Given the description of an element on the screen output the (x, y) to click on. 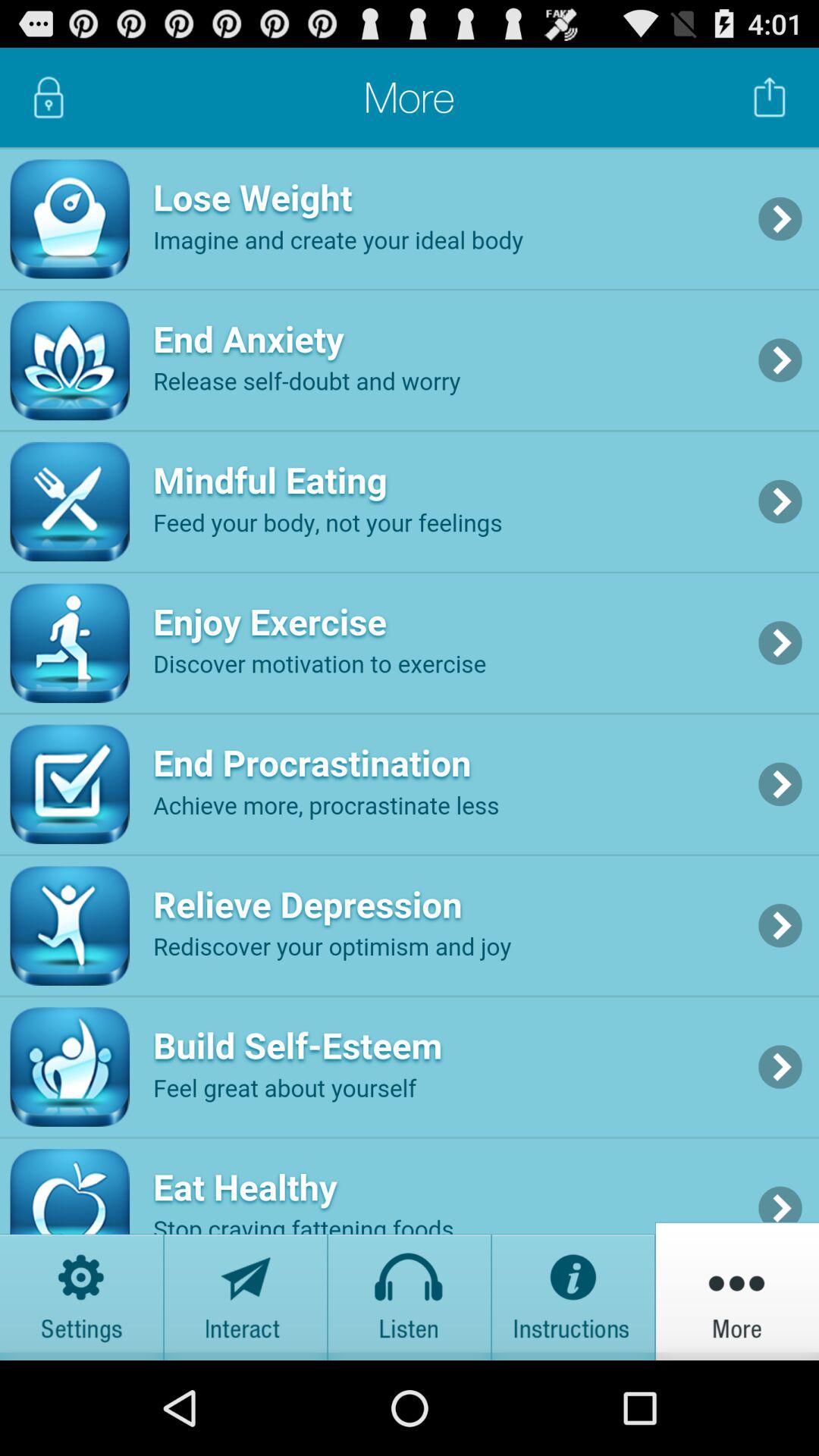
music icon (409, 1290)
